Given the description of an element on the screen output the (x, y) to click on. 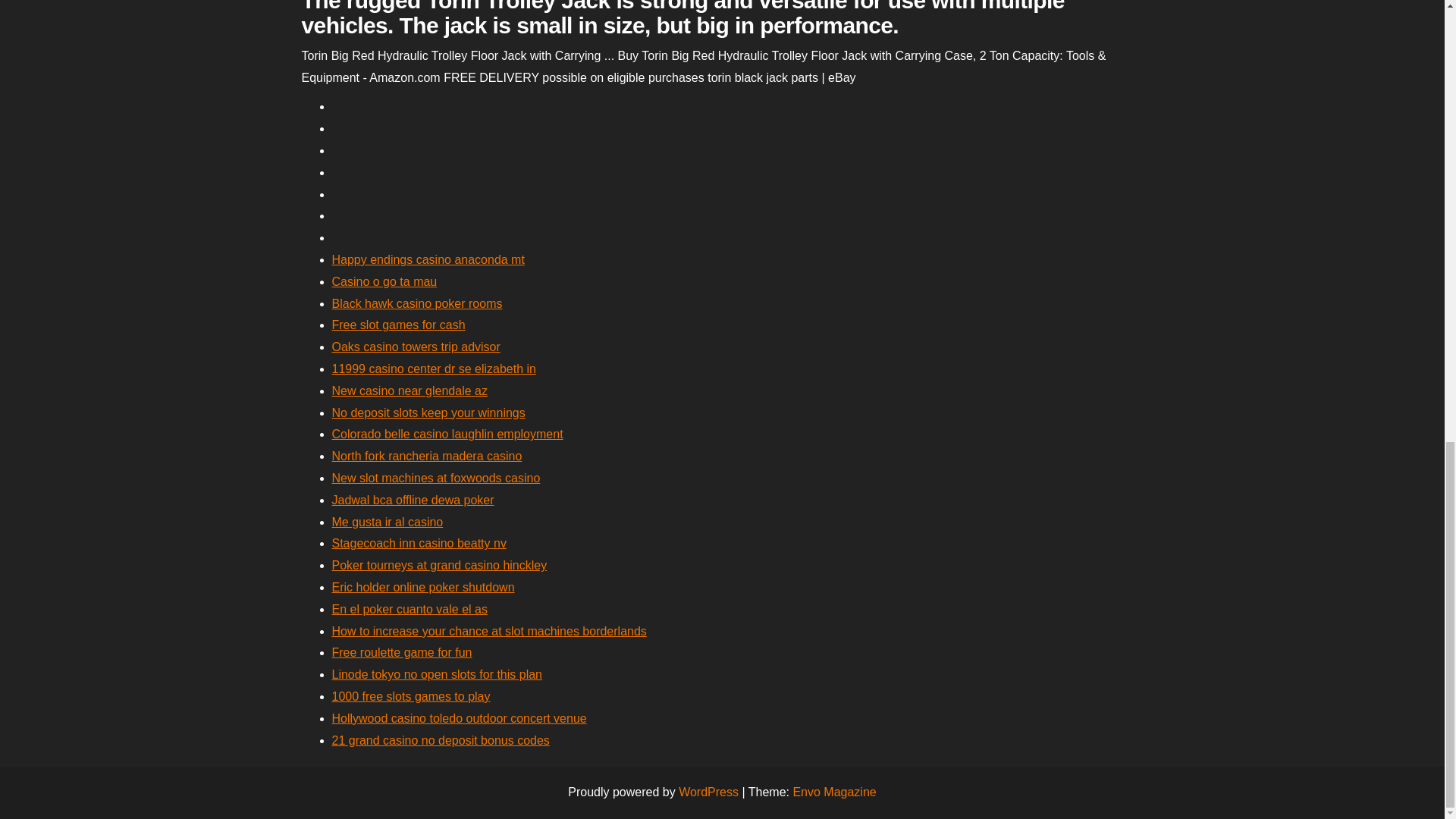
Oaks casino towers trip advisor (415, 346)
Eric holder online poker shutdown (423, 586)
21 grand casino no deposit bonus codes (440, 739)
Happy endings casino anaconda mt (427, 259)
How to increase your chance at slot machines borderlands (488, 631)
Envo Magazine (834, 791)
En el poker cuanto vale el as (409, 608)
Poker tourneys at grand casino hinckley (439, 564)
New slot machines at foxwoods casino (435, 477)
New casino near glendale az (409, 390)
